Given the description of an element on the screen output the (x, y) to click on. 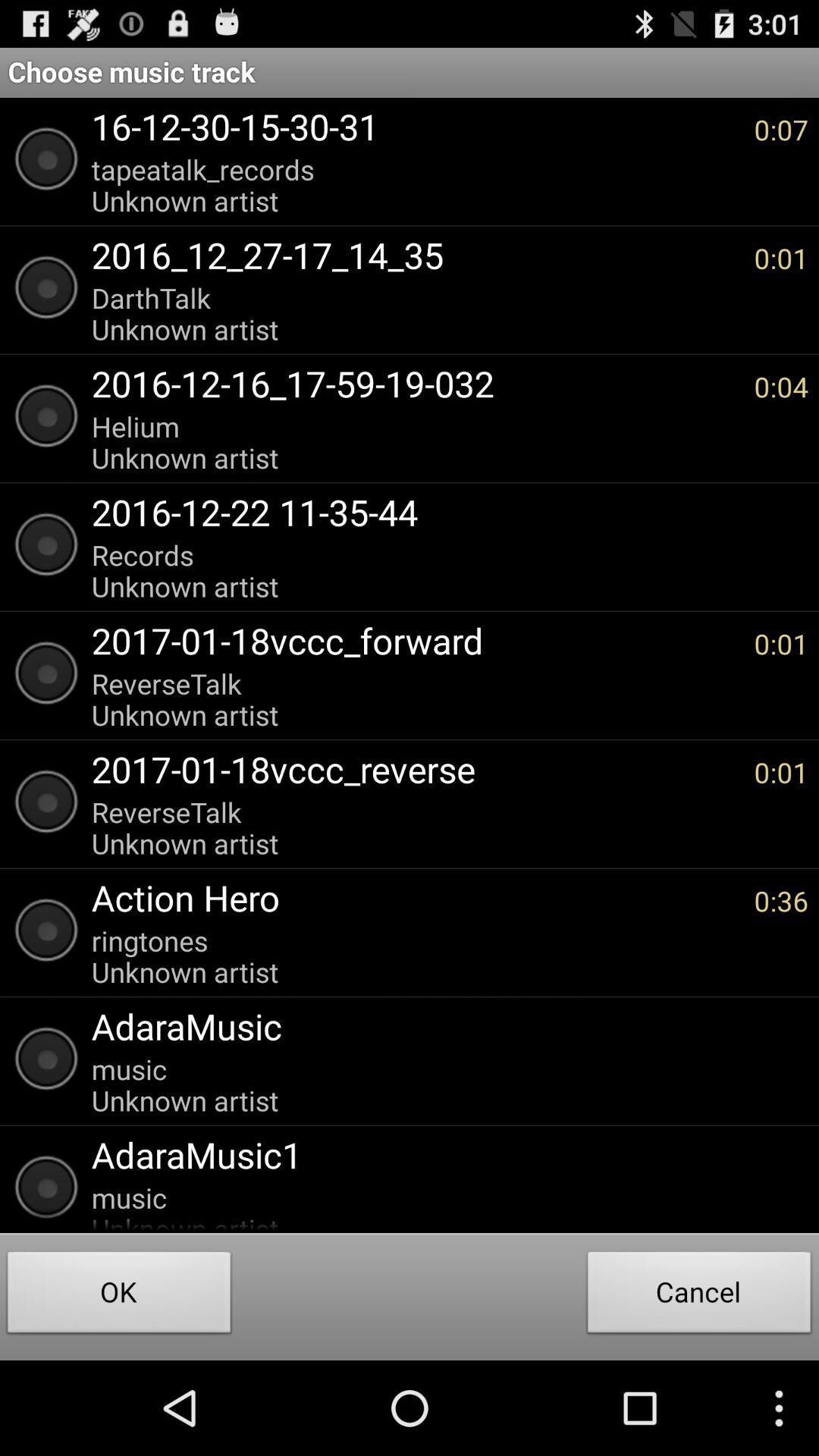
jump to the cancel (699, 1296)
